Given the description of an element on the screen output the (x, y) to click on. 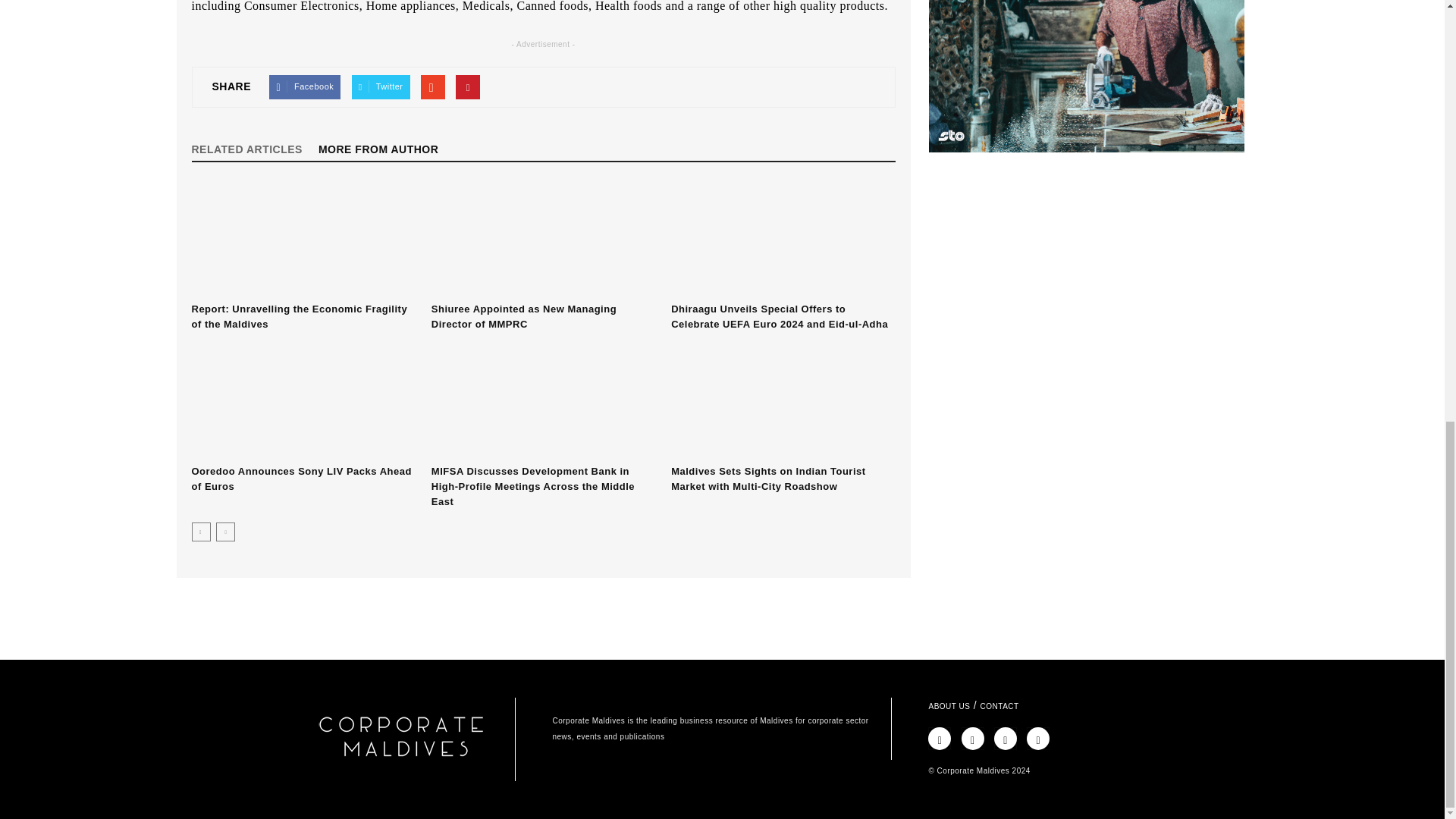
Shiuree Appointed as New Managing Director of MMPRC (542, 239)
Facebook (304, 87)
Ooredoo Announces Sony LIV Packs Ahead of Euros (300, 479)
Report: Unravelling the Economic Fragility of the Maldives (302, 239)
Twitter (381, 87)
Ooredoo Announces Sony LIV Packs Ahead of Euros (302, 401)
Shiuree Appointed as New Managing Director of MMPRC (522, 316)
Report: Unravelling the Economic Fragility of the Maldives (298, 316)
